Given the description of an element on the screen output the (x, y) to click on. 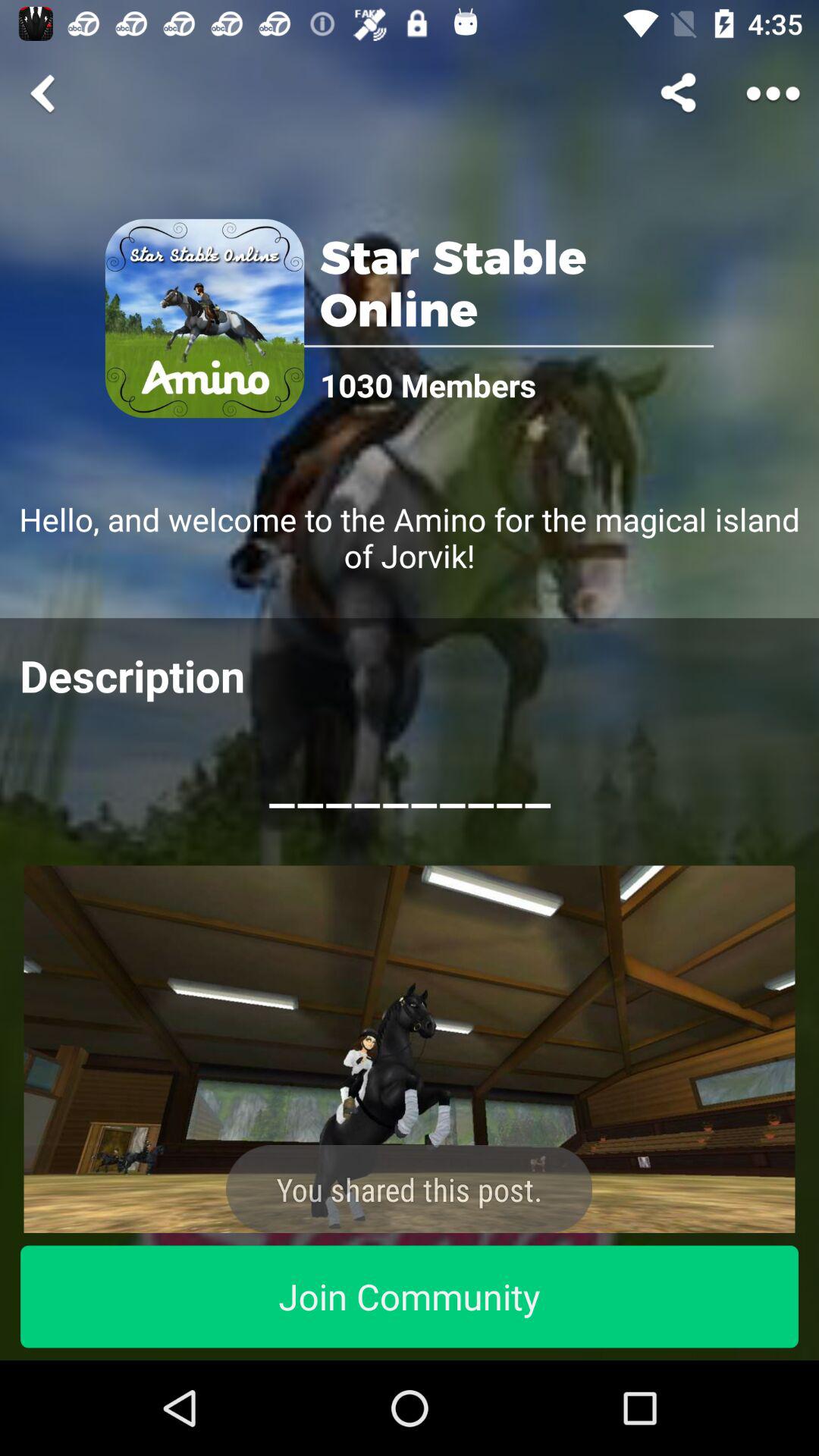
share the article (409, 1049)
